Given the description of an element on the screen output the (x, y) to click on. 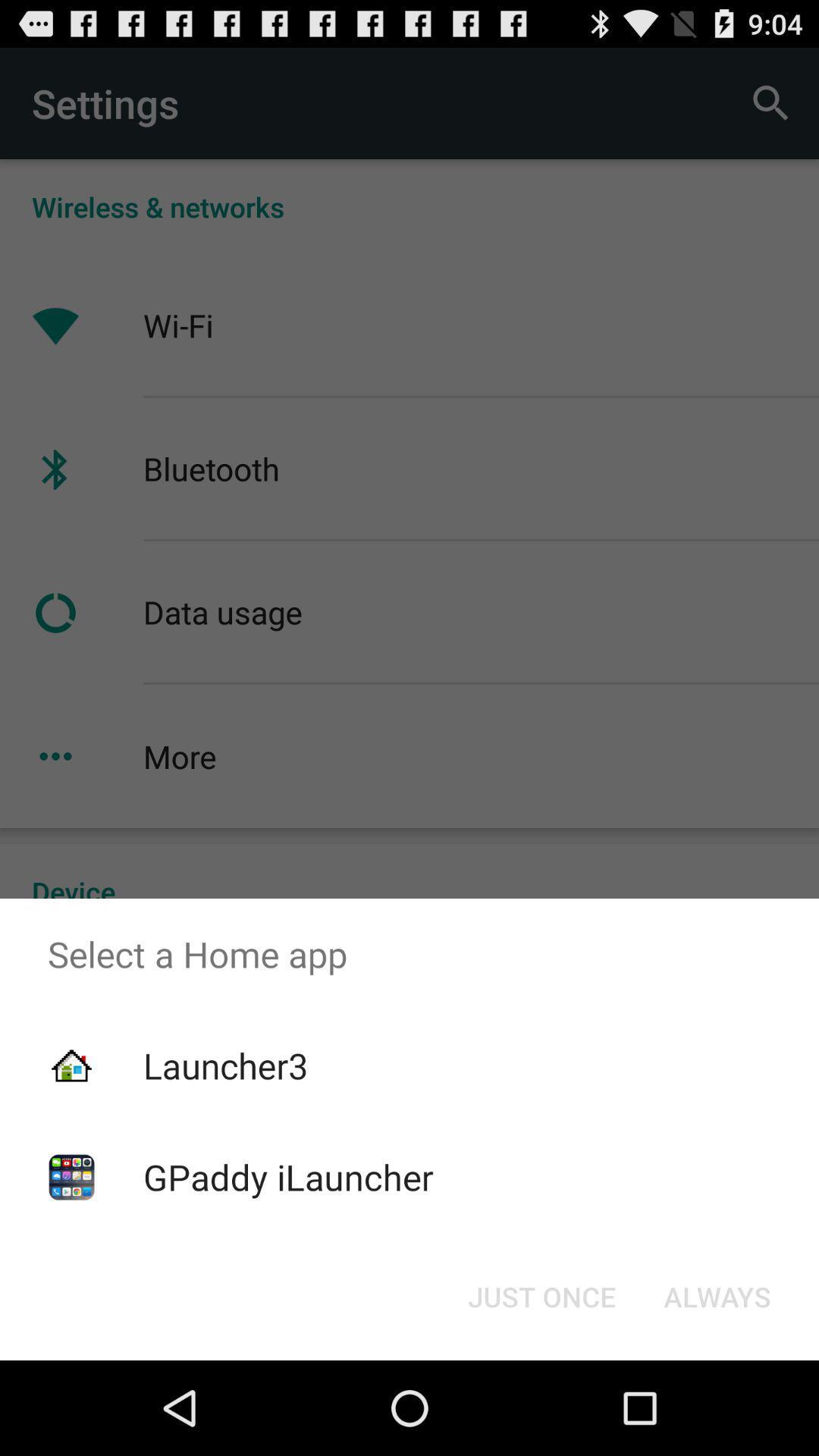
launch the item next to always button (541, 1296)
